Given the description of an element on the screen output the (x, y) to click on. 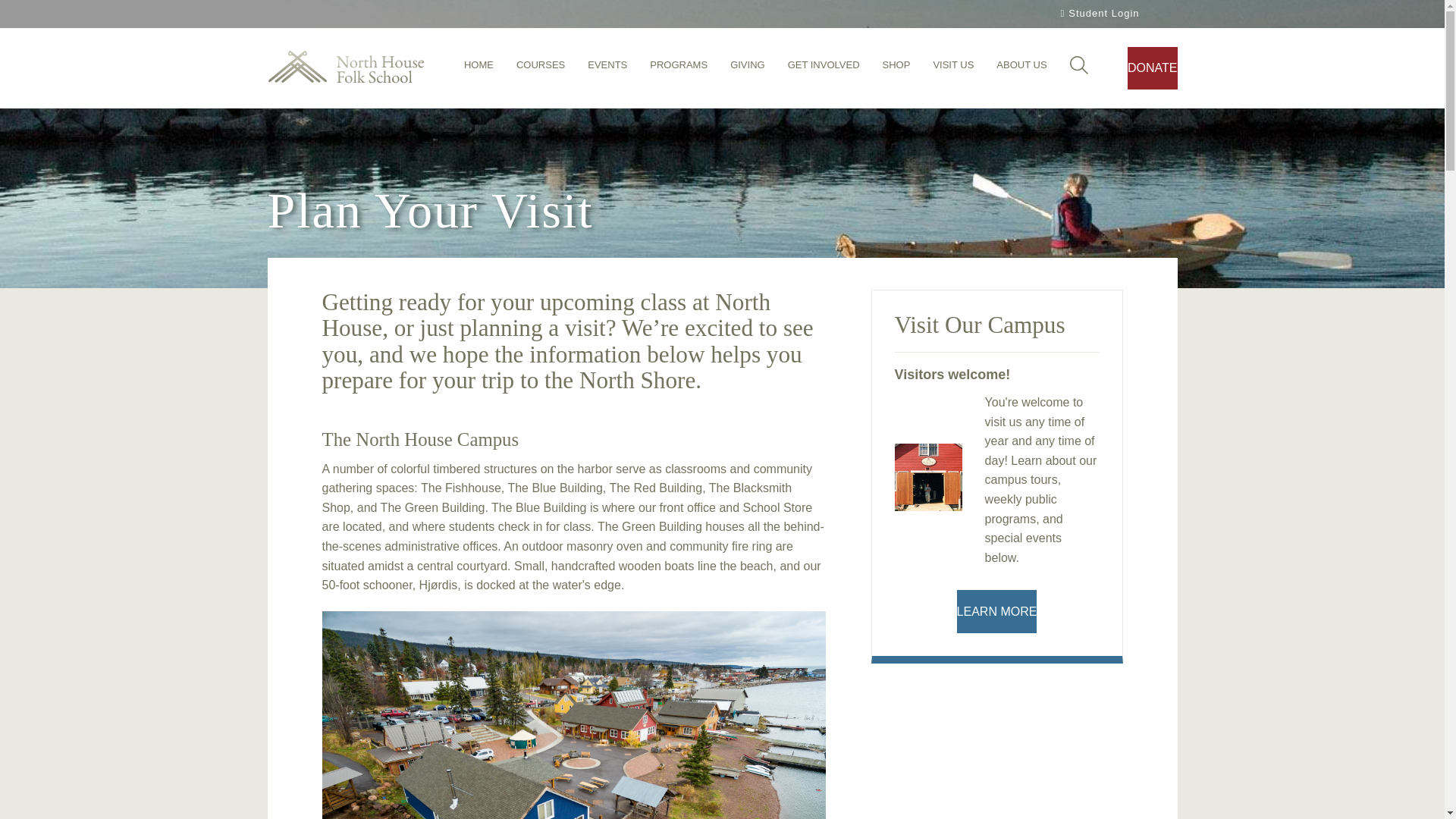
SHOP (896, 69)
GIVING (747, 69)
North House Folk School (344, 67)
VISIT US (953, 69)
COURSES (540, 69)
HOME (478, 69)
Student Login (1098, 13)
PROGRAMS (678, 69)
GET INVOLVED (823, 69)
EVENTS (607, 69)
